Given the description of an element on the screen output the (x, y) to click on. 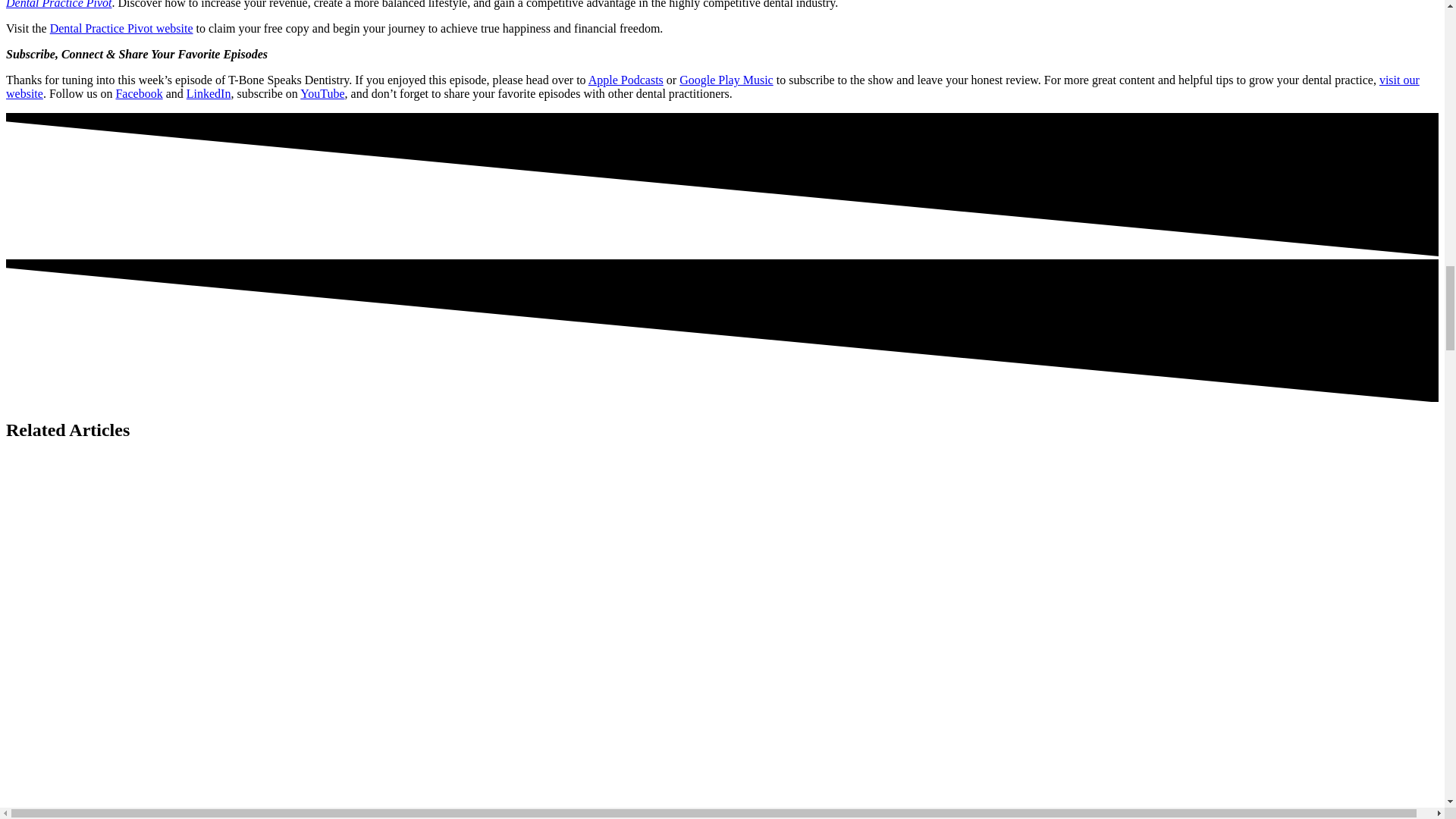
Google Play Music (726, 79)
Dental Practice Pivot website (121, 28)
Apple Podcasts (625, 79)
LinkedIn (208, 92)
YouTube (321, 92)
visit our website (712, 86)
Facebook (138, 92)
